Given the description of an element on the screen output the (x, y) to click on. 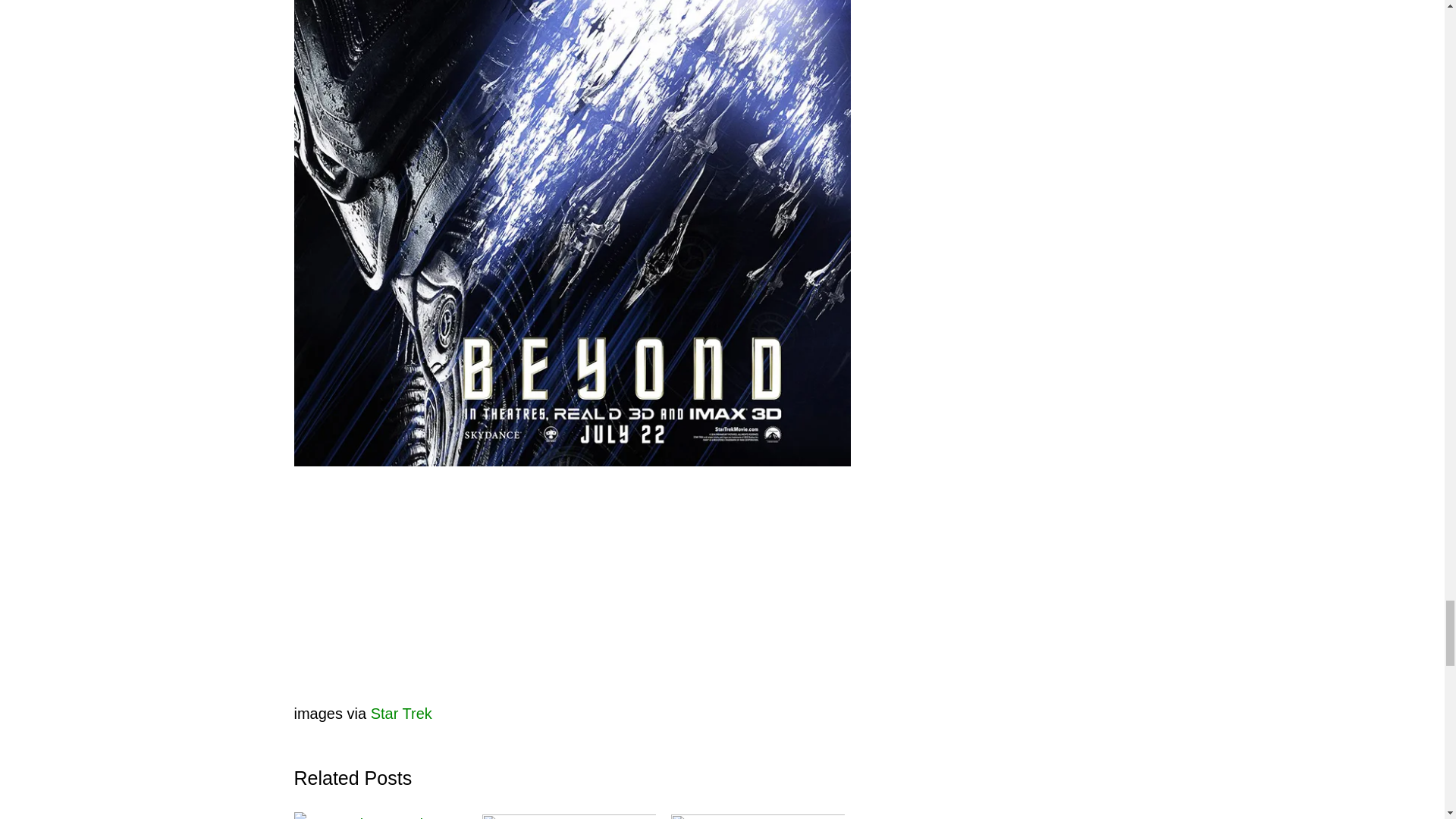
An Intense New Trailer For Star Trek Beyond (380, 815)
